Given the description of an element on the screen output the (x, y) to click on. 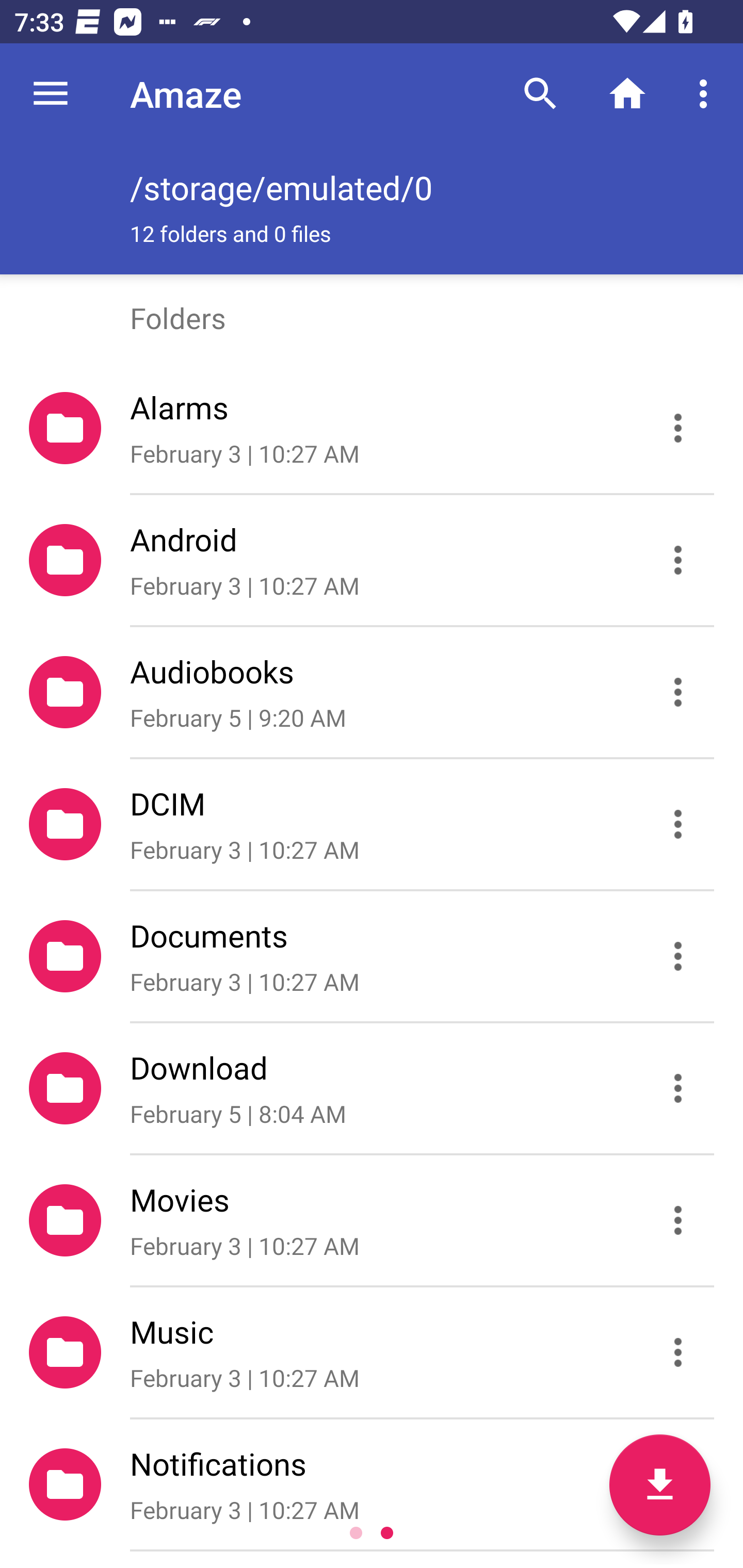
Navigate up (50, 93)
Search (540, 93)
Home (626, 93)
More options (706, 93)
Alarms February 3 | 10:27 AM (371, 427)
Android February 3 | 10:27 AM (371, 560)
Audiobooks February 5 | 9:20 AM (371, 692)
DCIM February 3 | 10:27 AM (371, 823)
Documents February 3 | 10:27 AM (371, 955)
Download February 5 | 8:04 AM (371, 1088)
Movies February 3 | 10:27 AM (371, 1220)
Music February 3 | 10:27 AM (371, 1352)
Notifications February 3 | 10:27 AM (371, 1484)
